Given the description of an element on the screen output the (x, y) to click on. 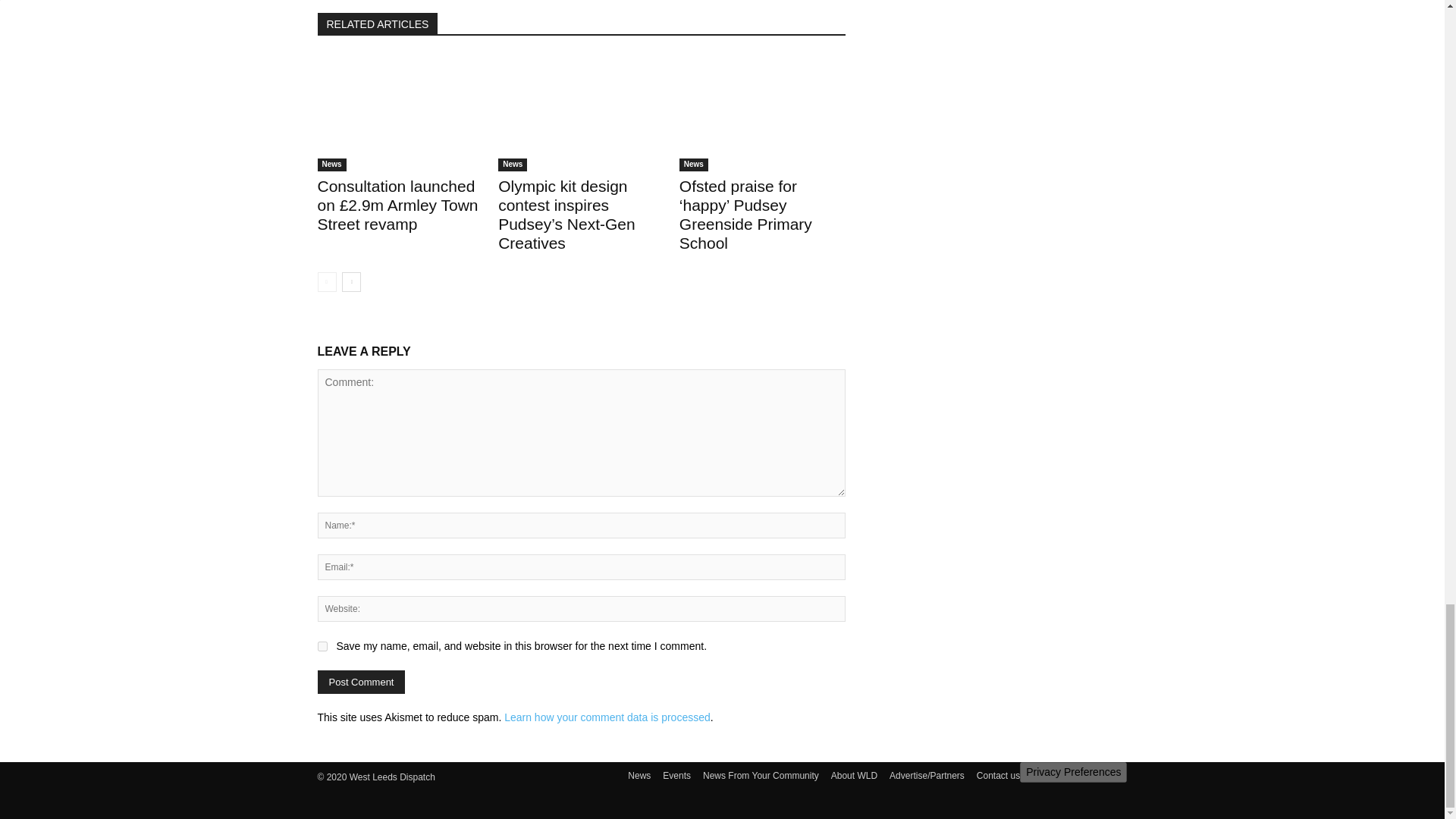
Post Comment (360, 681)
yes (321, 646)
